Given the description of an element on the screen output the (x, y) to click on. 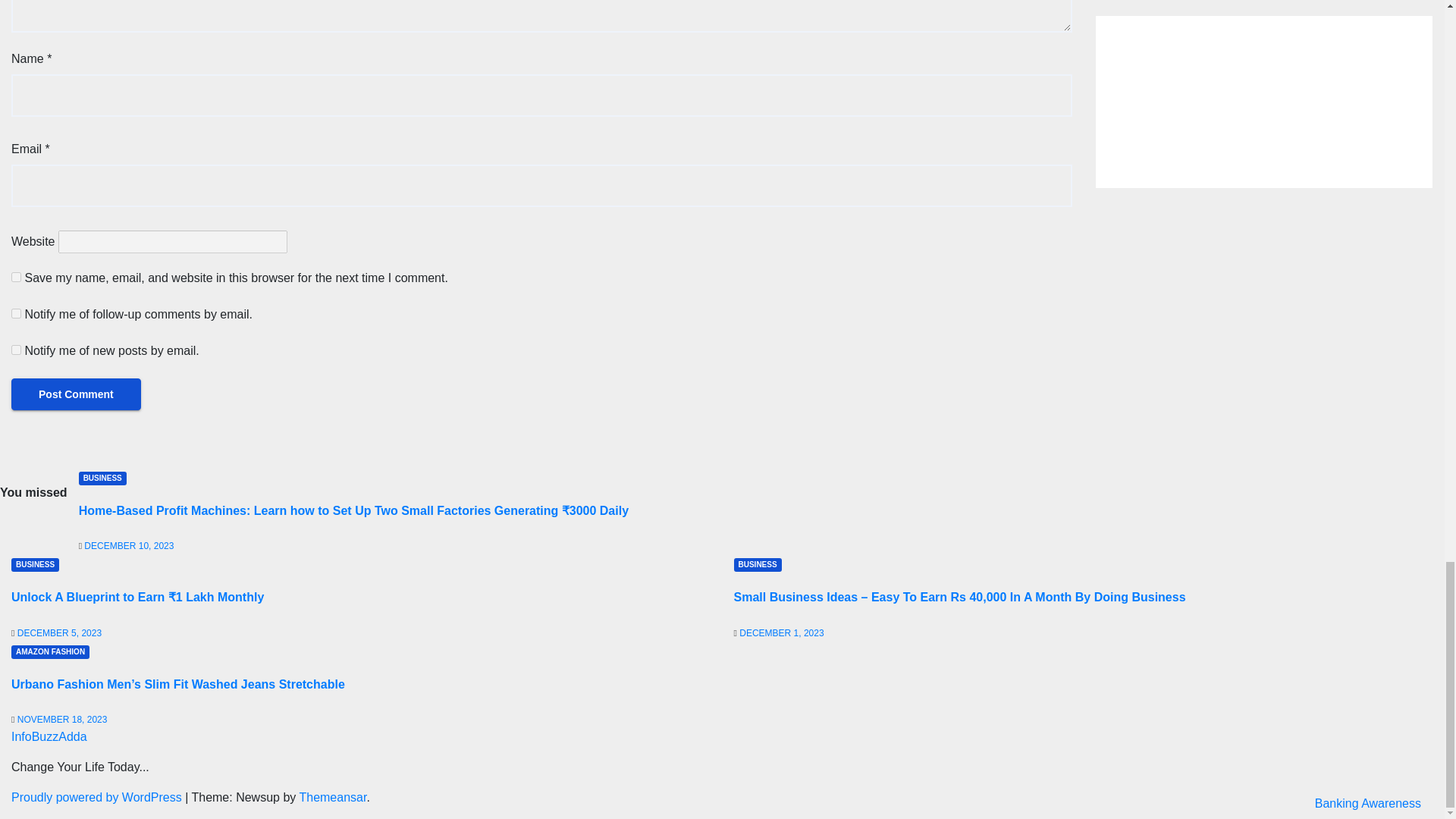
yes (16, 276)
subscribe (16, 349)
subscribe (16, 313)
Post Comment (76, 394)
